Given the description of an element on the screen output the (x, y) to click on. 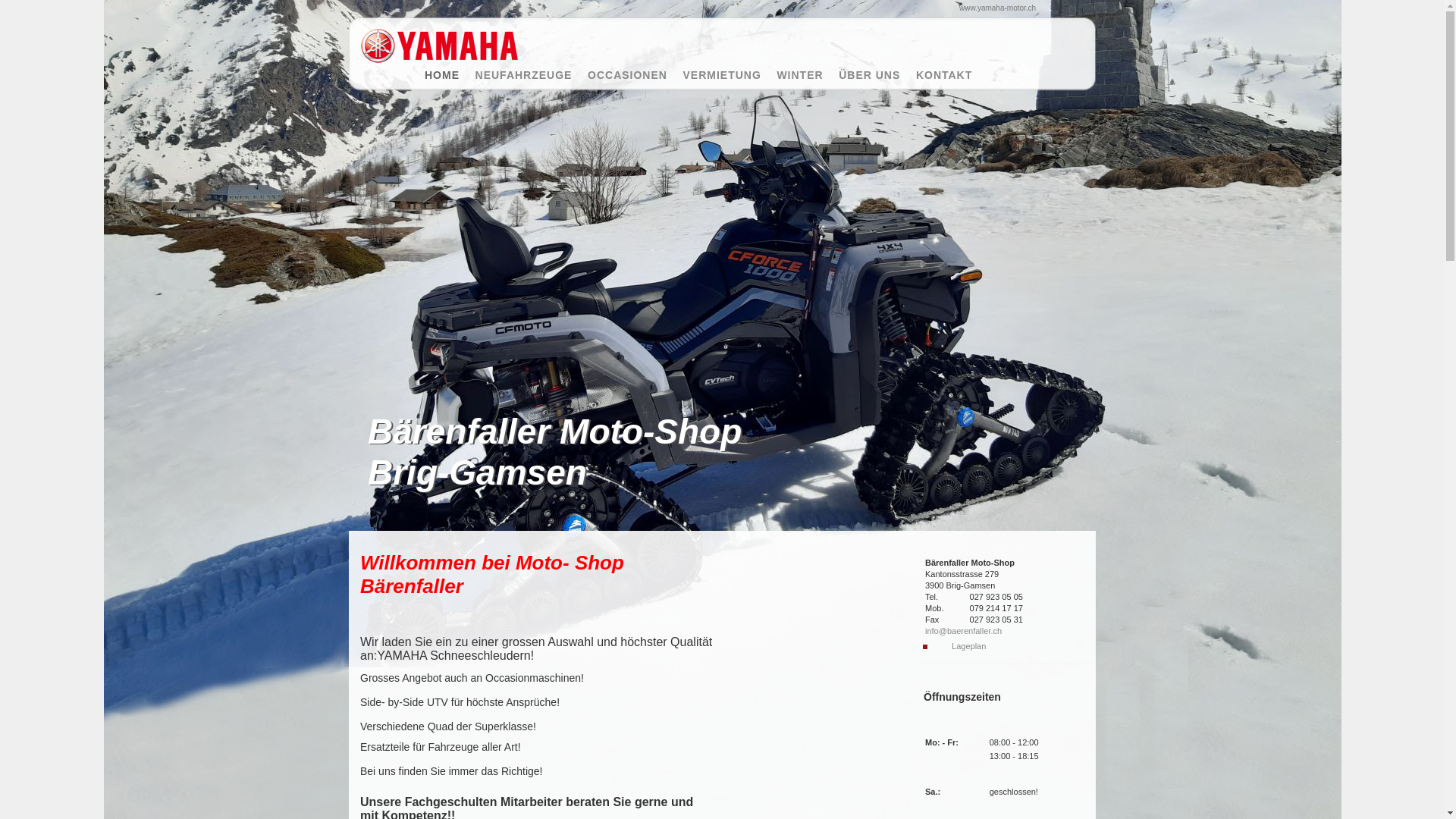
KONTAKT  Element type: text (945, 74)
WINTER     Element type: text (806, 74)
HOME     Element type: text (449, 74)
VERMIETUNG     Element type: text (728, 74)
NEUFAHRZEUGE     Element type: text (530, 74)
info@baerenfaller.ch Element type: text (963, 630)
OCCASIONEN     Element type: text (634, 74)
Lageplan Element type: text (968, 645)
www.yamaha-motor.ch Element type: text (997, 7)
